Given the description of an element on the screen output the (x, y) to click on. 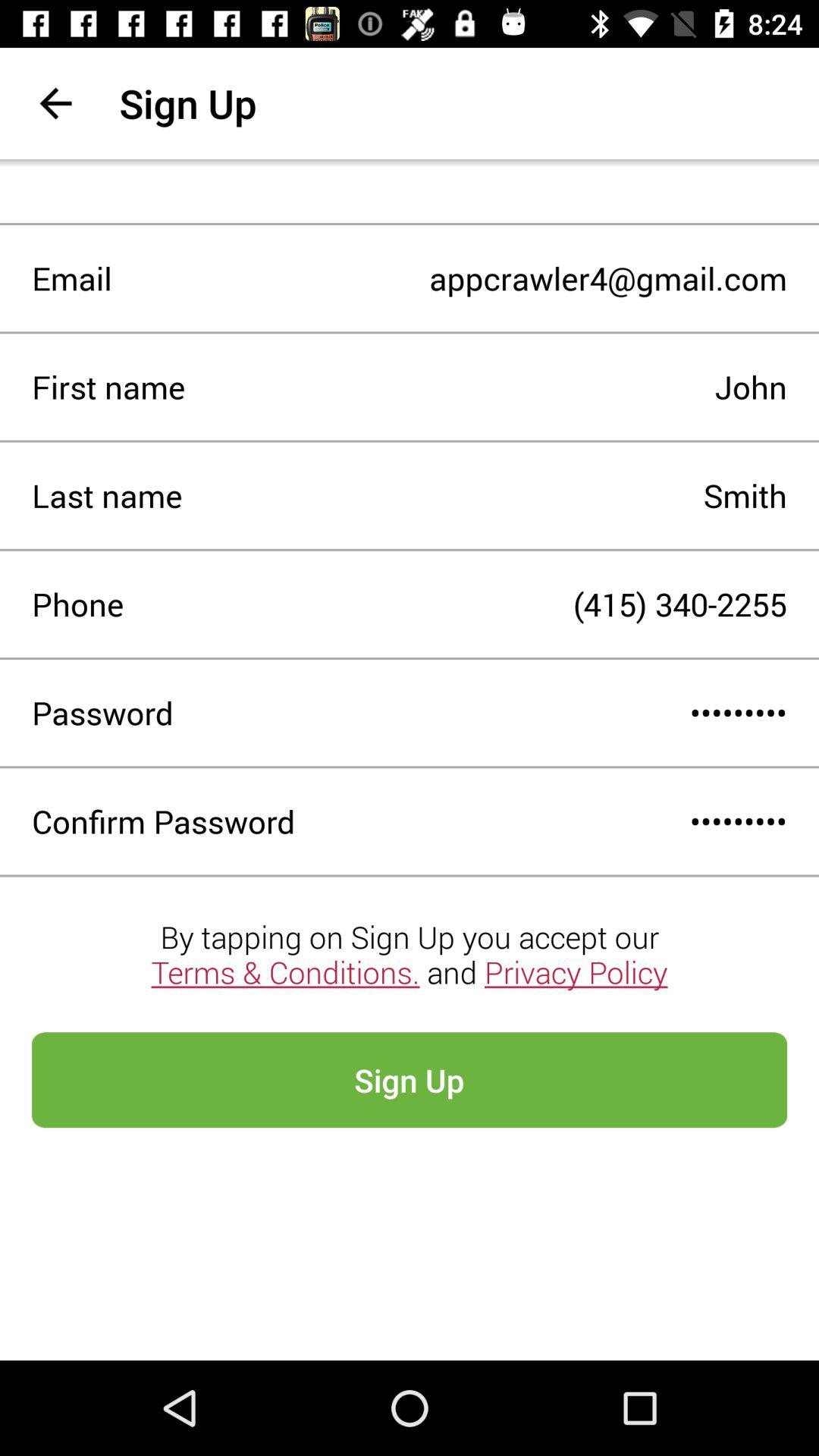
turn on item next to the email item (449, 278)
